Given the description of an element on the screen output the (x, y) to click on. 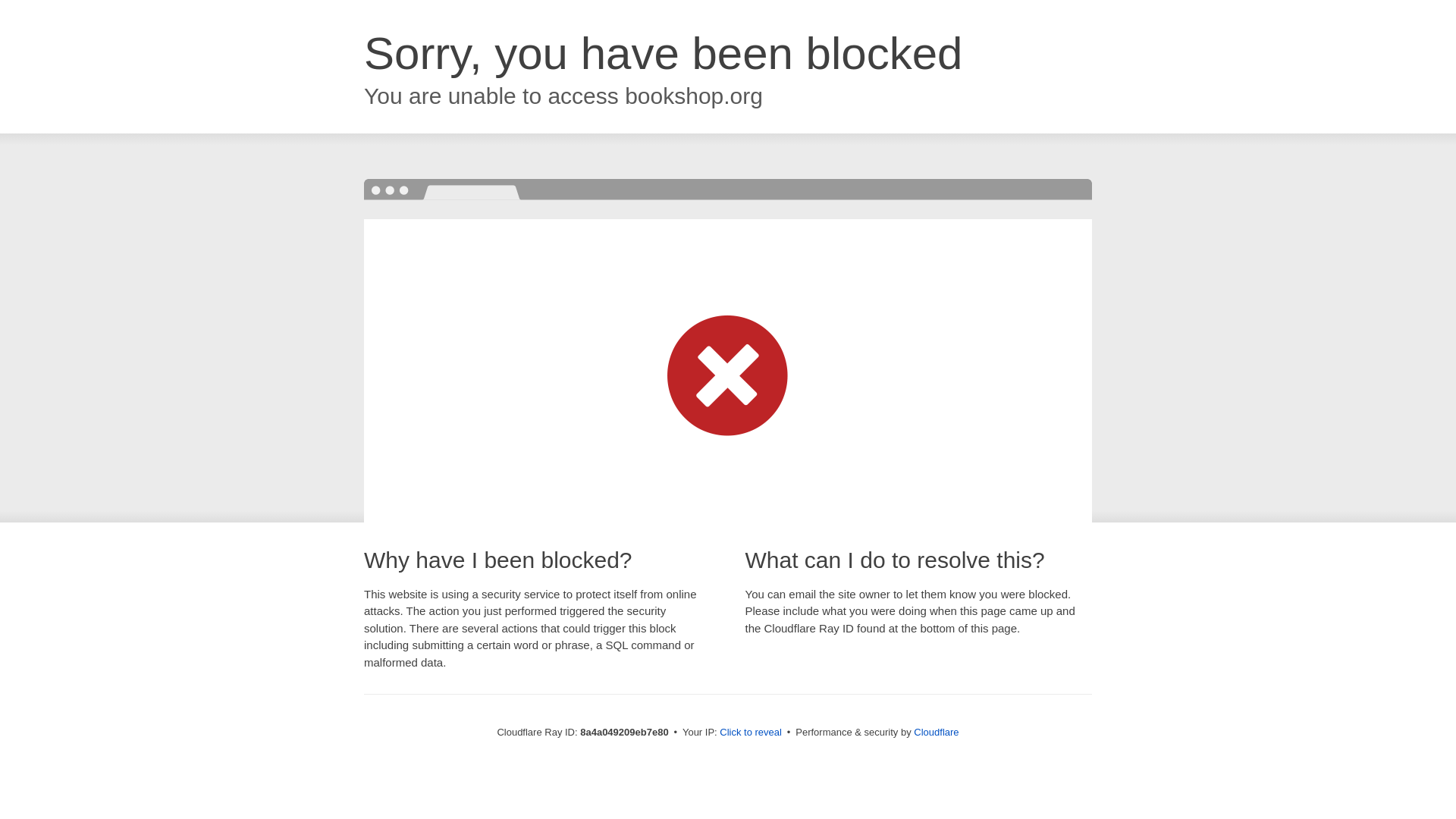
Cloudflare (936, 731)
Click to reveal (750, 732)
